Given the description of an element on the screen output the (x, y) to click on. 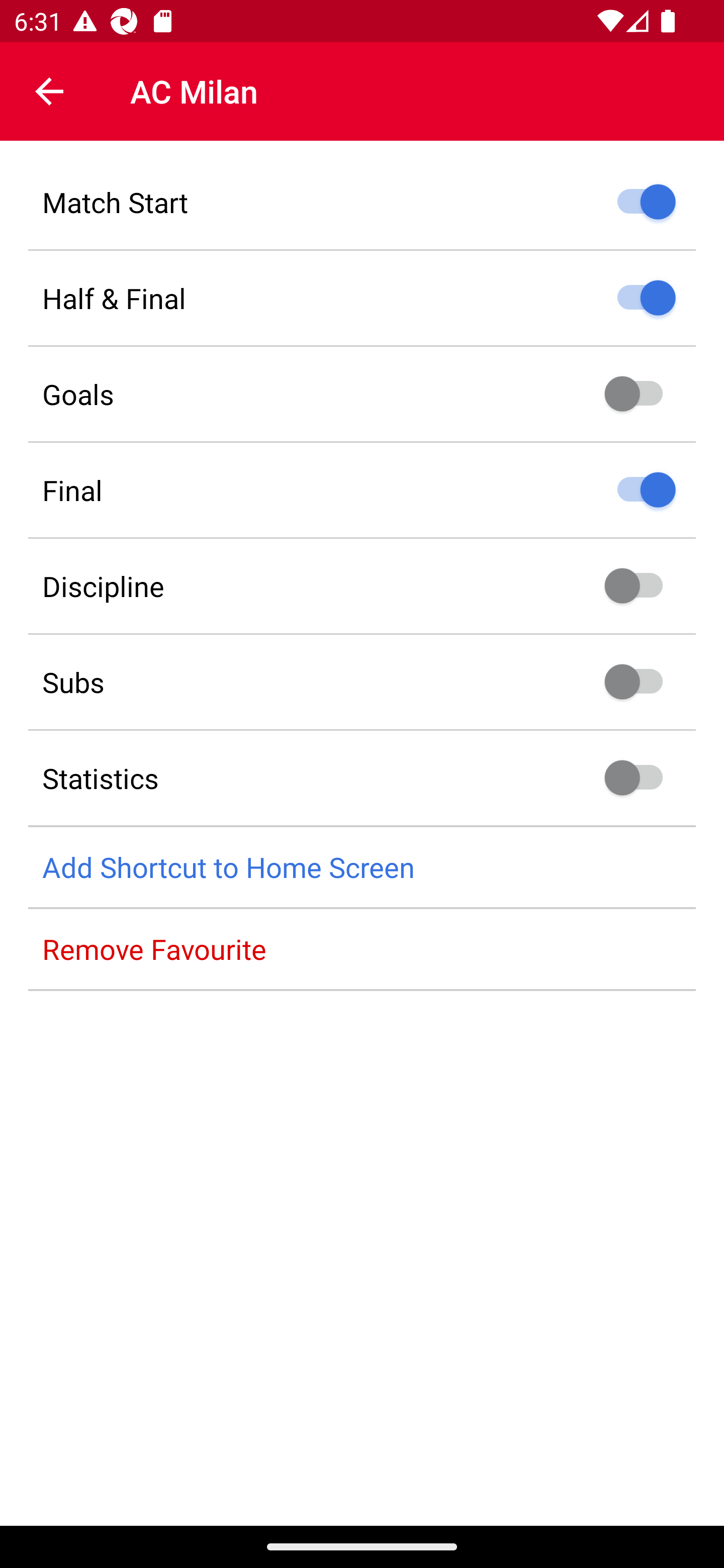
Navigate up (49, 91)
Add Shortcut to Home Screen (362, 867)
Remove Favourite (362, 948)
